Given the description of an element on the screen output the (x, y) to click on. 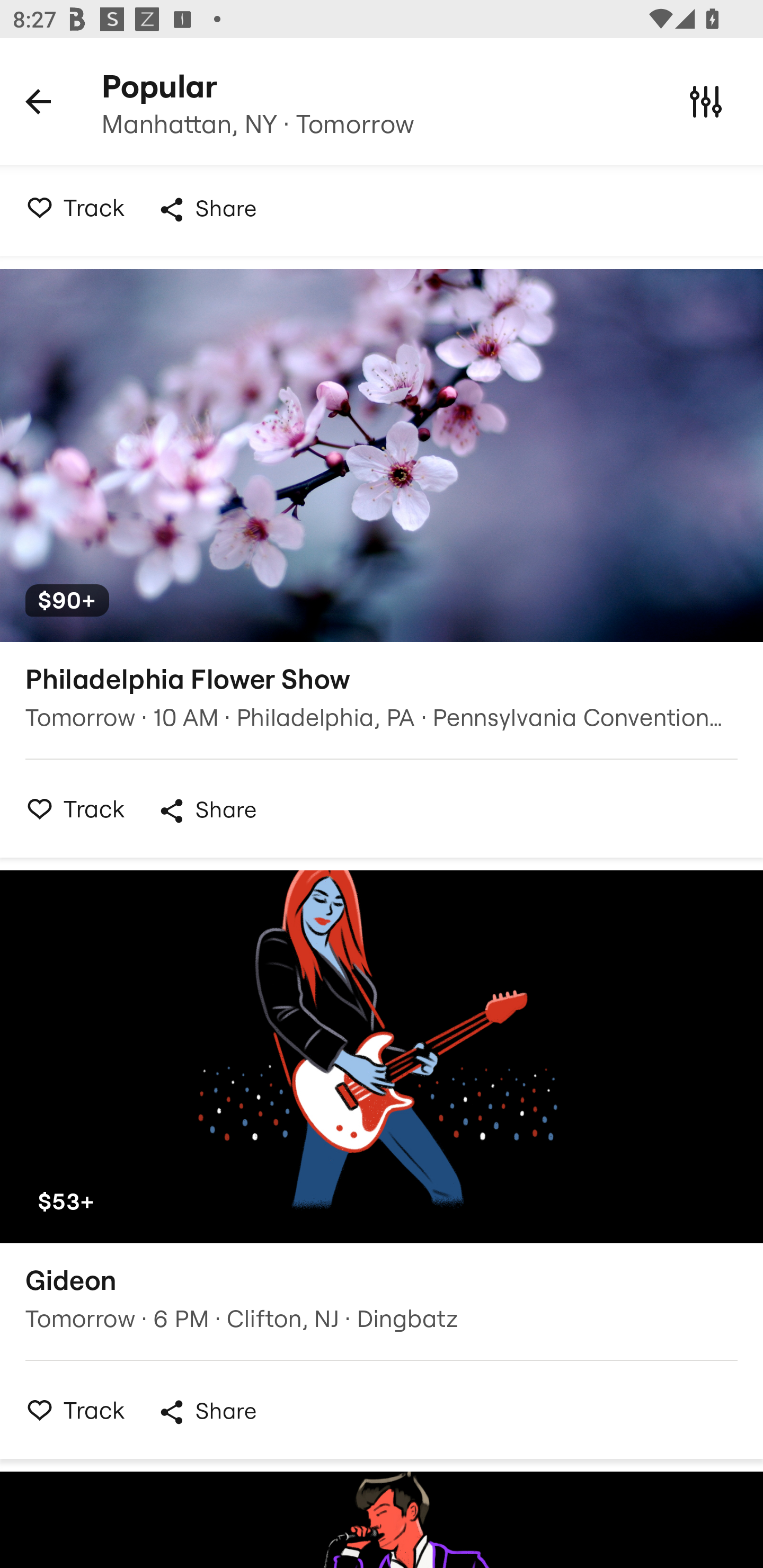
Back (38, 100)
Close (705, 100)
Track (70, 210)
Share (207, 209)
Track (70, 807)
Share (207, 811)
Track (70, 1409)
Share (207, 1411)
